Given the description of an element on the screen output the (x, y) to click on. 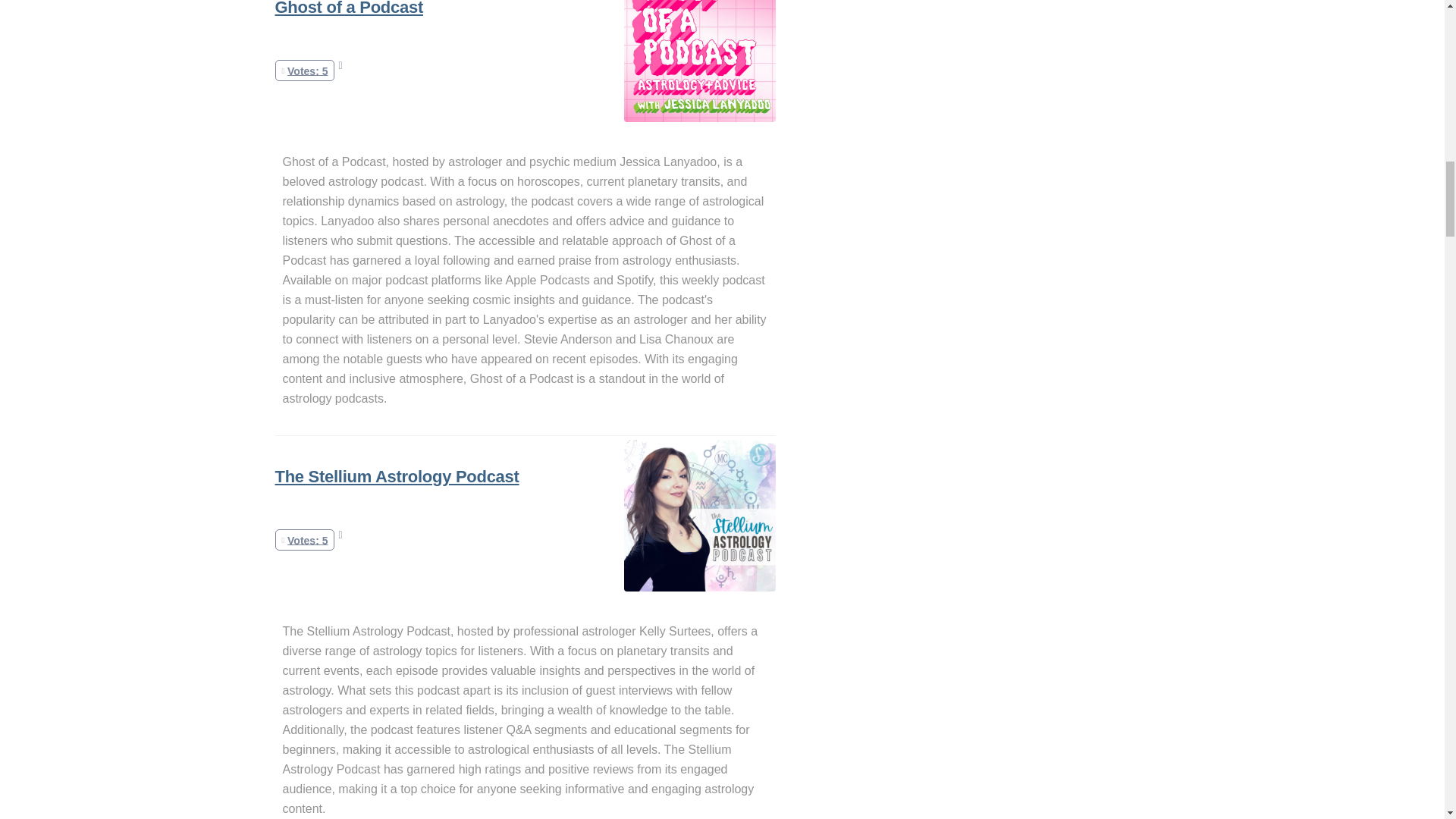
Ghost of a Podcast (348, 8)
Votes: 5 (305, 539)
The Stellium Astrology Podcast (396, 476)
Votes: 5 (305, 70)
